Given the description of an element on the screen output the (x, y) to click on. 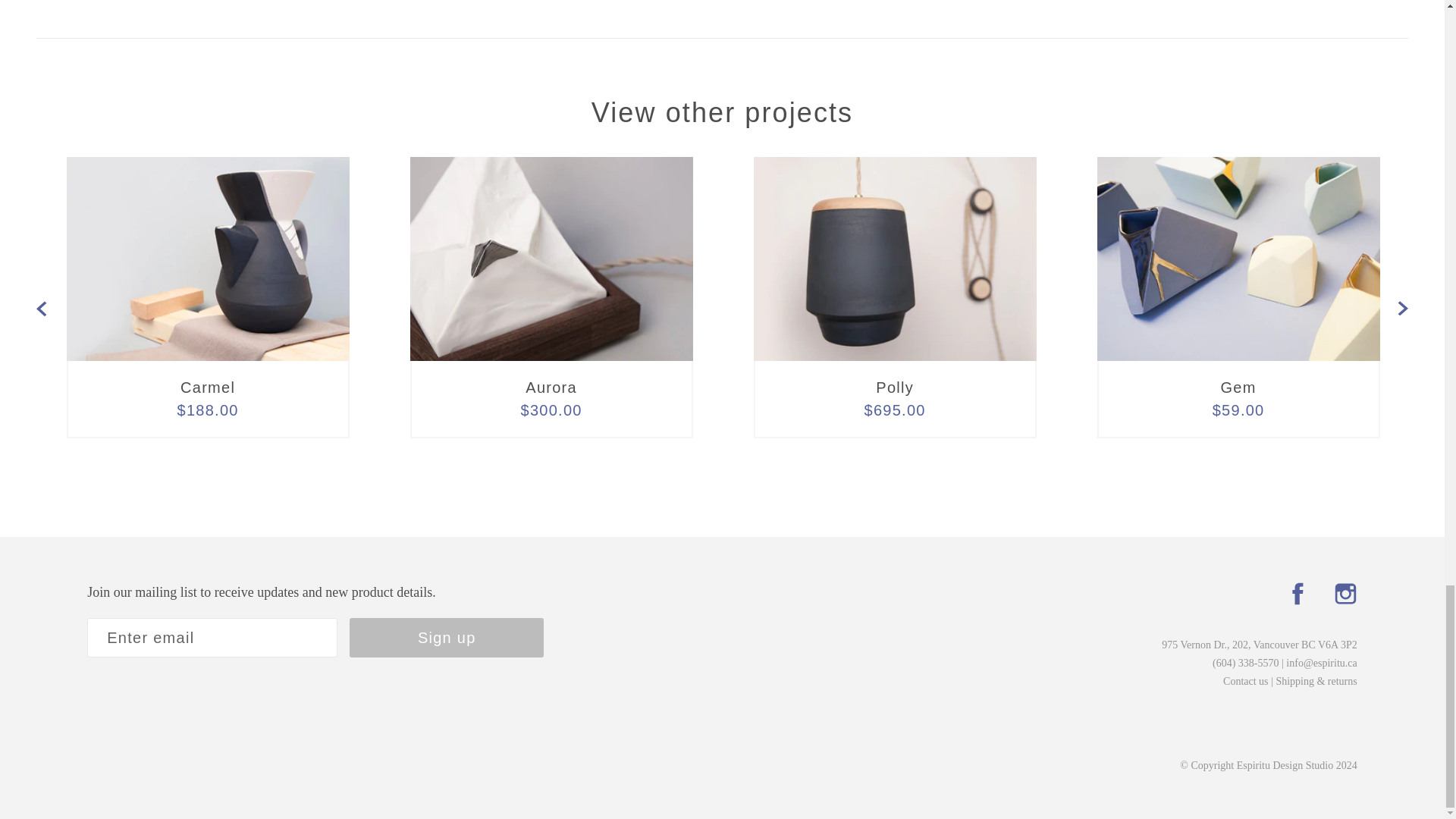
Sign up (446, 637)
